Given the description of an element on the screen output the (x, y) to click on. 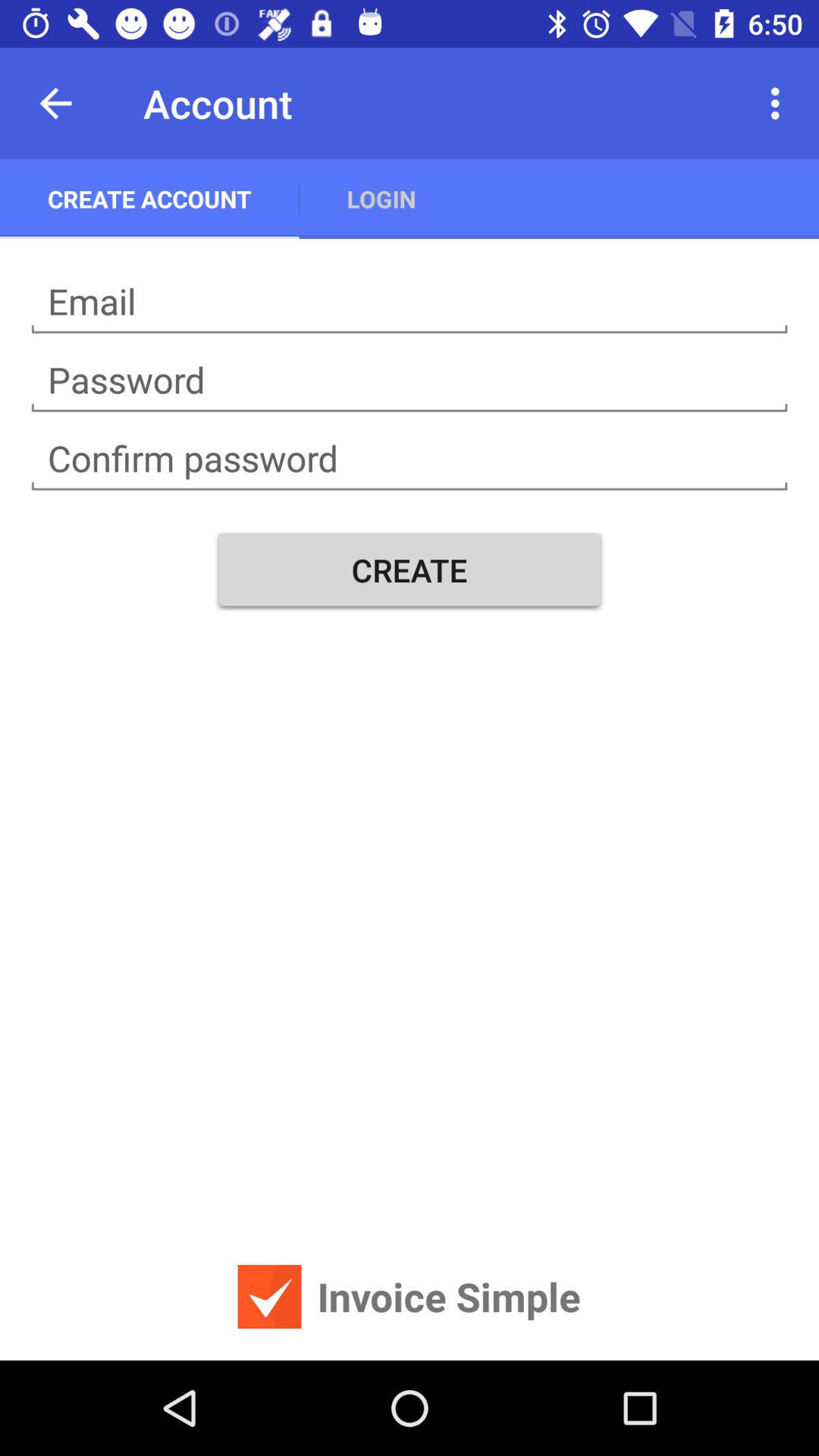
choose the create account (149, 198)
